Given the description of an element on the screen output the (x, y) to click on. 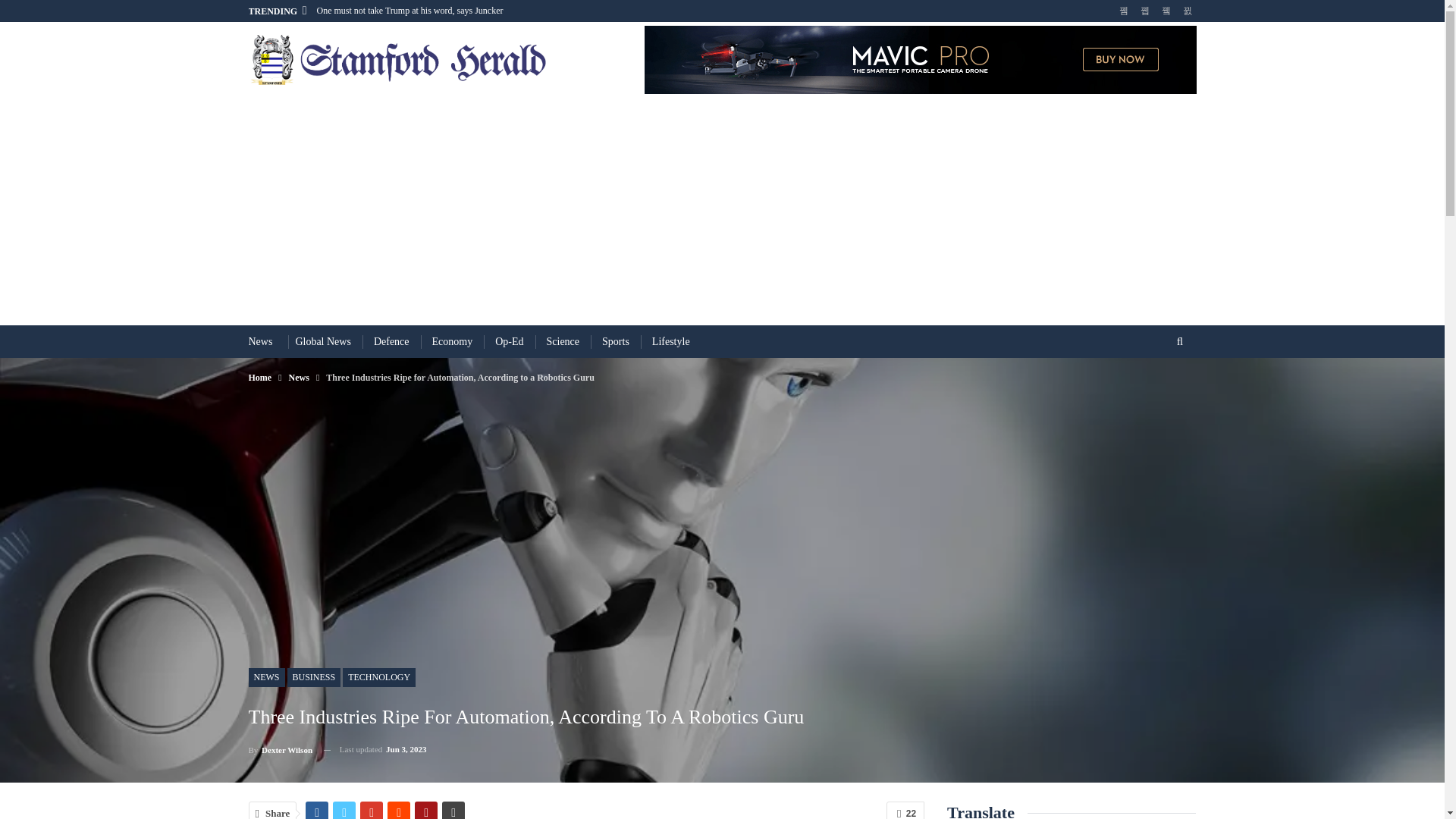
Global News (322, 341)
Browse Author Articles (280, 749)
One must not take Trump at his word, says Juncker (410, 9)
